Given the description of an element on the screen output the (x, y) to click on. 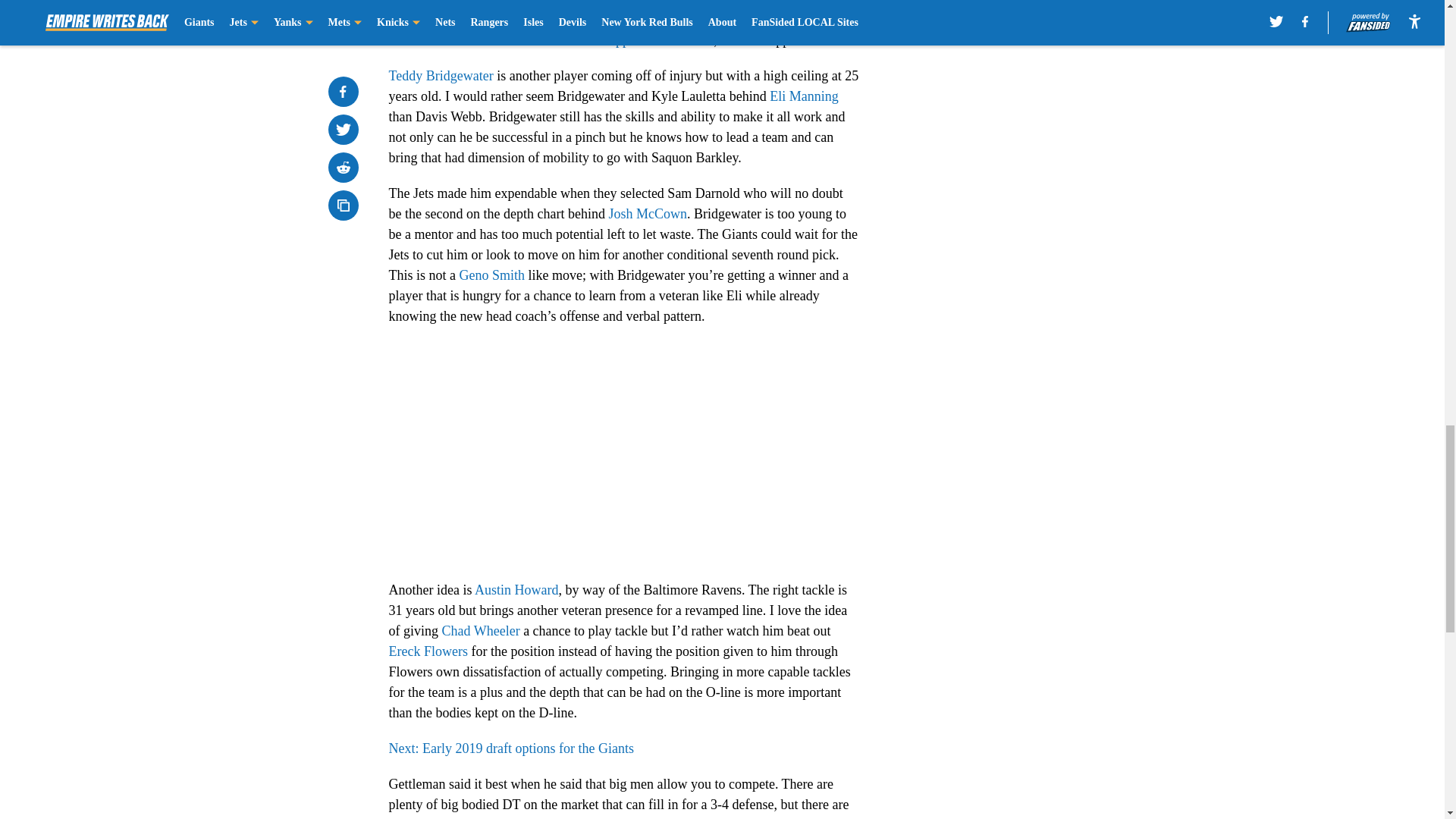
Eli Manning (804, 96)
Eli Apple (612, 39)
Chad Wheeler (480, 630)
Austin Howard (516, 589)
Geno Smith (492, 274)
Josh McCown (647, 213)
Teddy Bridgewater (440, 75)
